Given the description of an element on the screen output the (x, y) to click on. 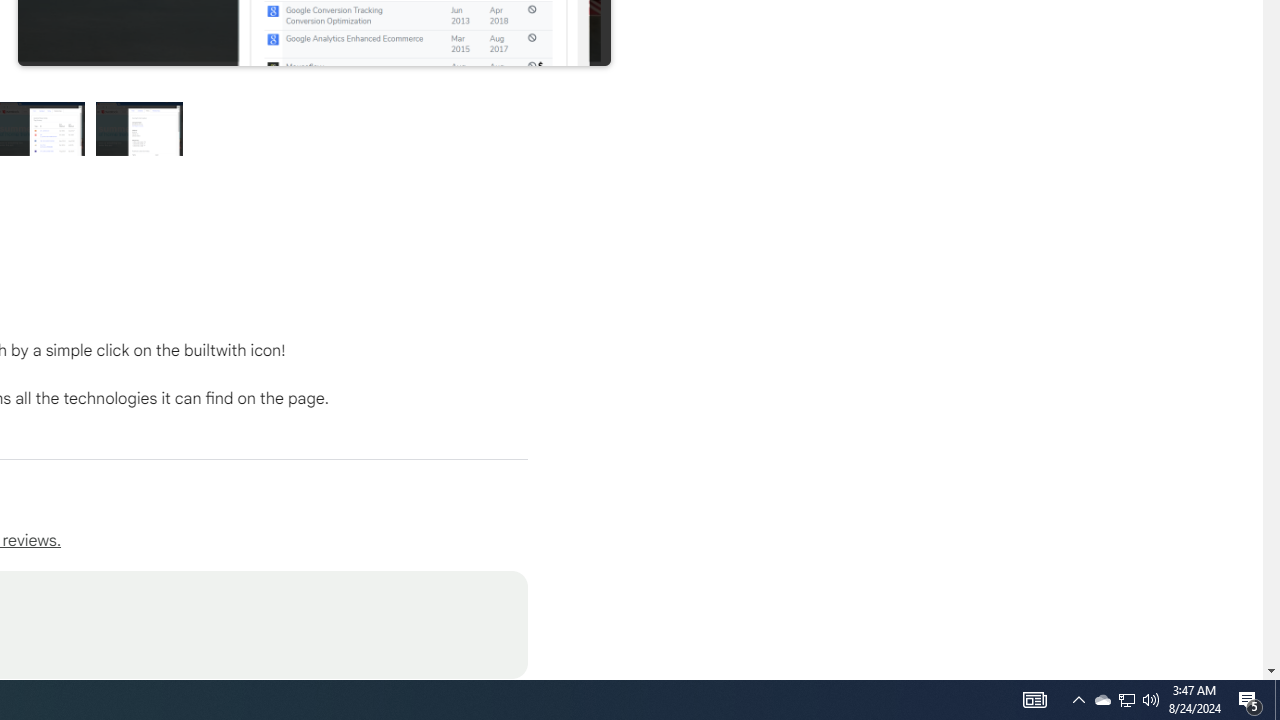
Preview slide 4 (140, 128)
